Given the description of an element on the screen output the (x, y) to click on. 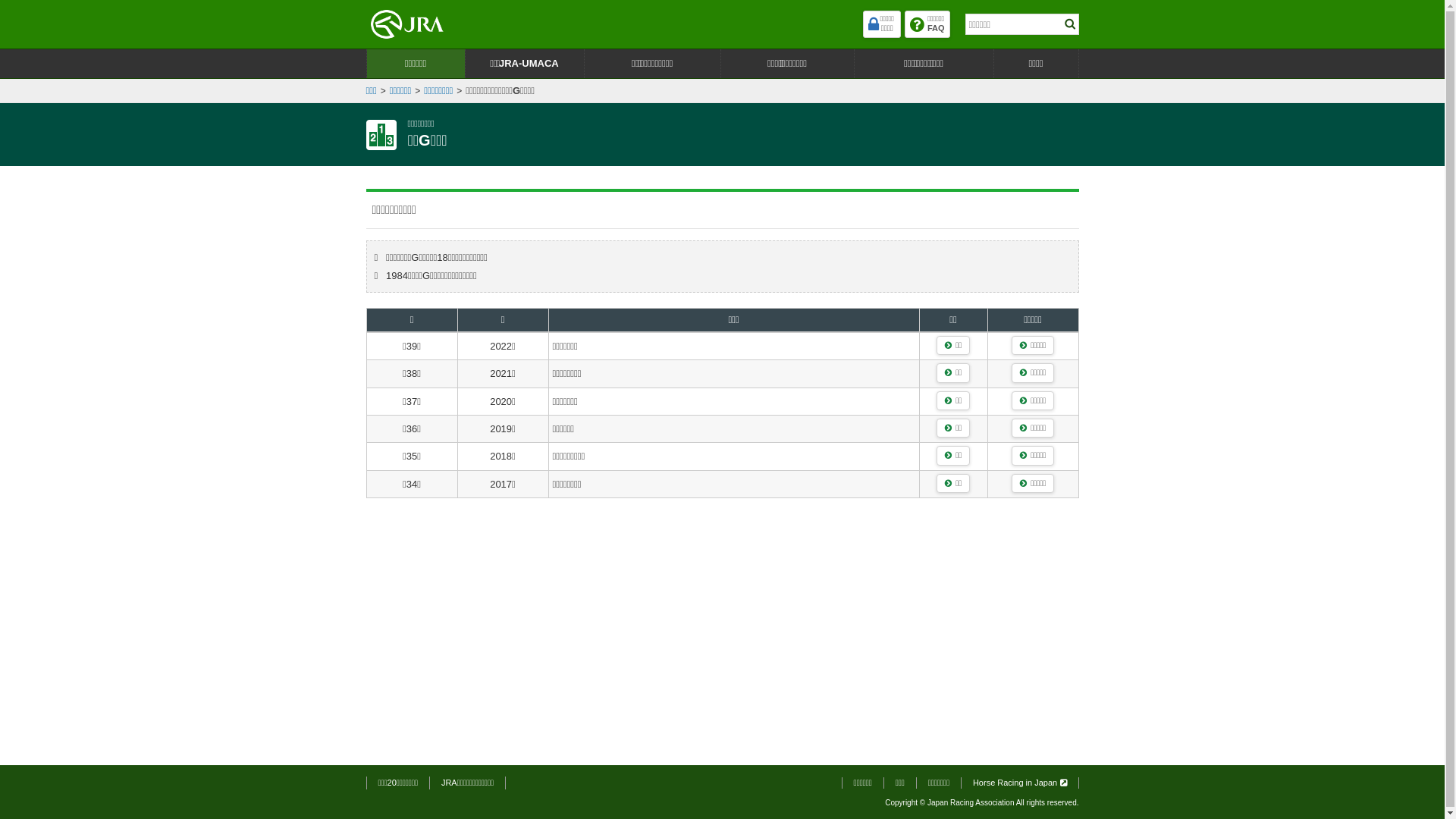
Horse Racing in Japan Element type: text (1019, 782)
